Given the description of an element on the screen output the (x, y) to click on. 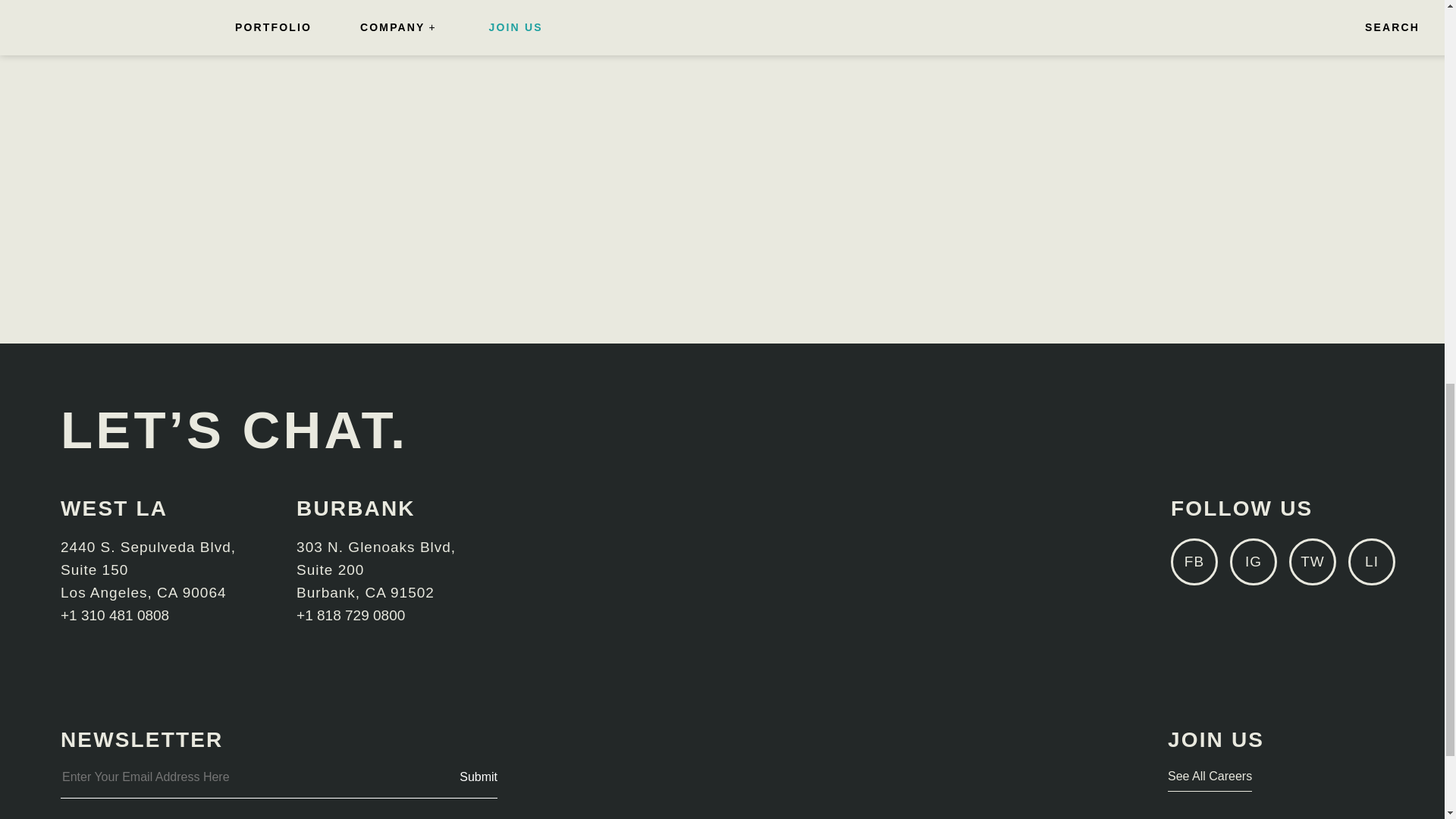
Submit (478, 776)
IG (1253, 561)
LI (1371, 561)
See All Careers (1209, 779)
FB (1193, 561)
TW (1312, 561)
